Given the description of an element on the screen output the (x, y) to click on. 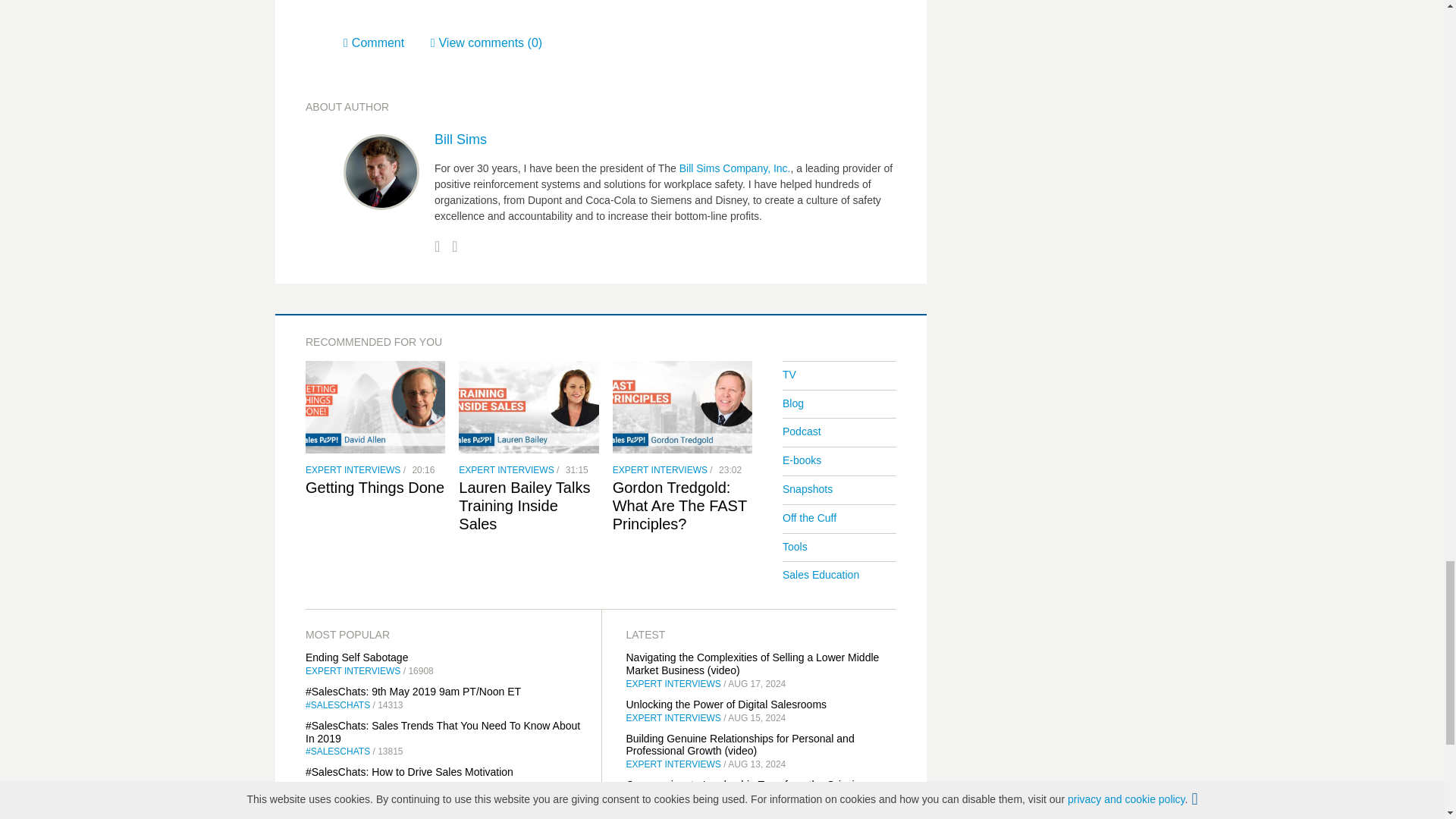
Podcast (802, 431)
Blog (793, 403)
Comment (386, 42)
Bill Sims (459, 139)
TV (789, 374)
E-books (802, 460)
Bill Sims Company, Inc. (734, 168)
